Given the description of an element on the screen output the (x, y) to click on. 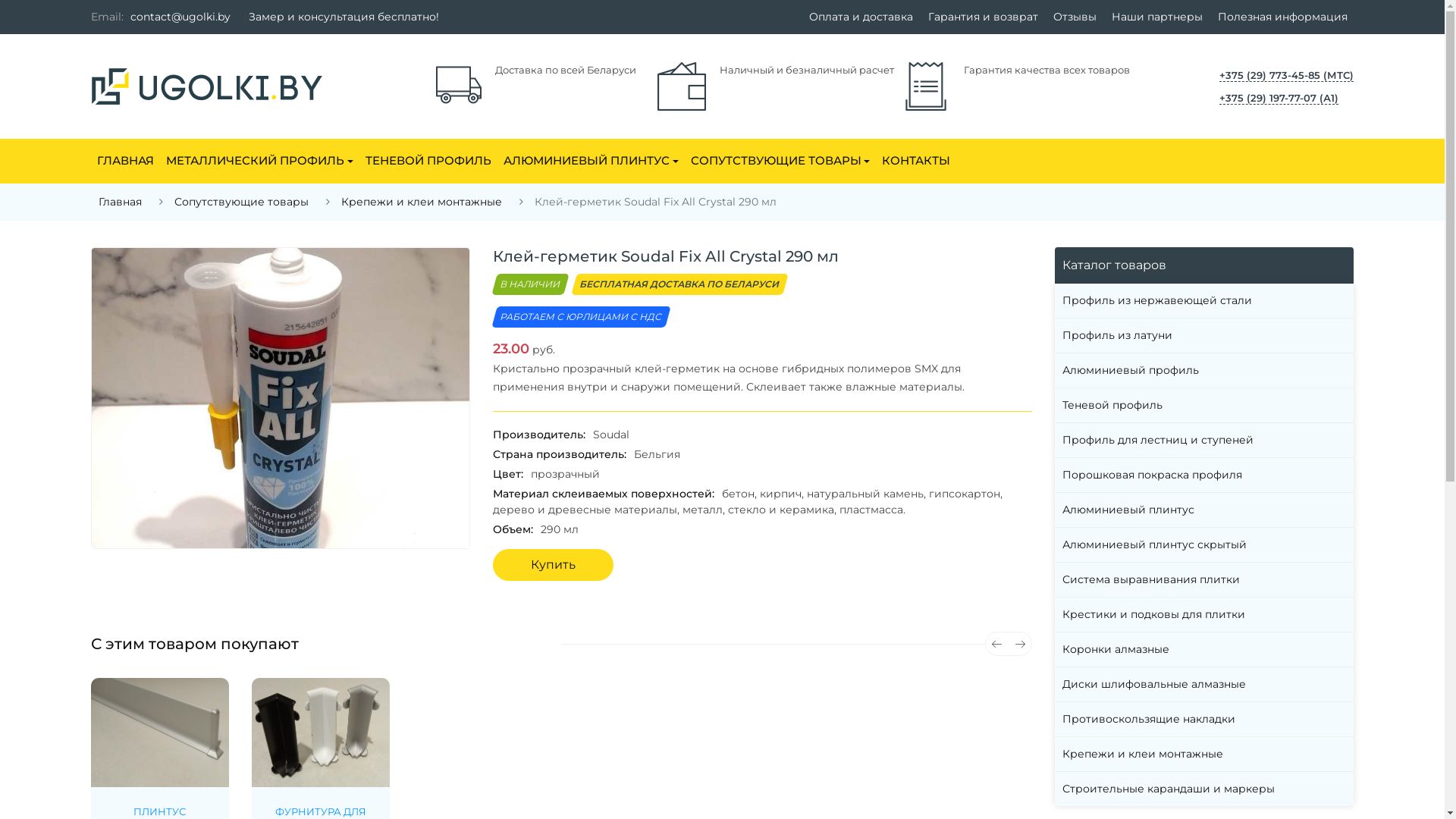
contact@ugolki.by Element type: text (180, 16)
